Given the description of an element on the screen output the (x, y) to click on. 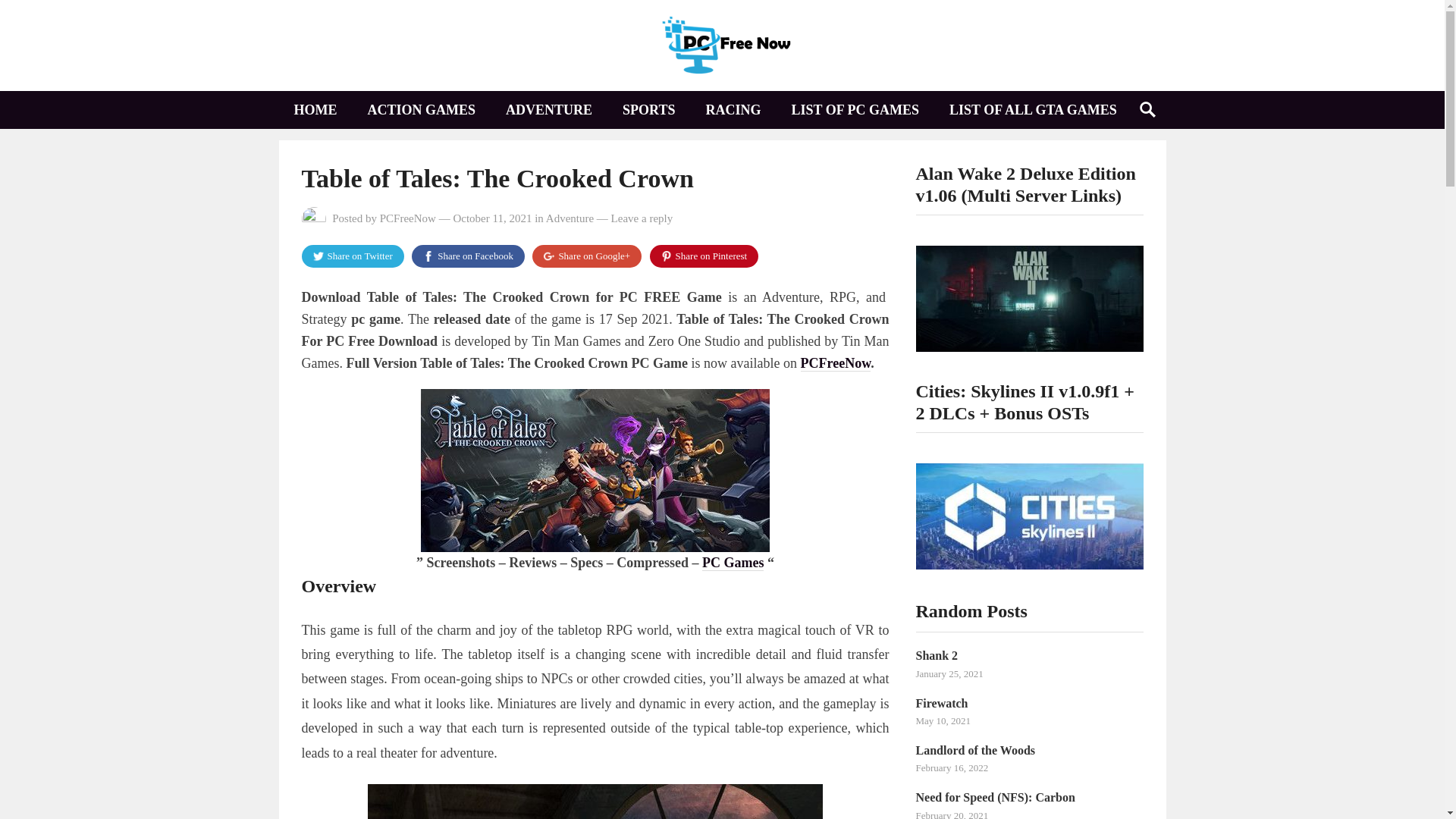
PC Games (731, 562)
View all posts in Adventure (570, 218)
Share on Facebook (468, 255)
ADVENTURE (548, 109)
Posts by PCFreeNow (407, 218)
Adventure (570, 218)
PCFreeNow (407, 218)
HOME (315, 109)
ACTION GAMES (421, 109)
SPORTS (648, 109)
